Given the description of an element on the screen output the (x, y) to click on. 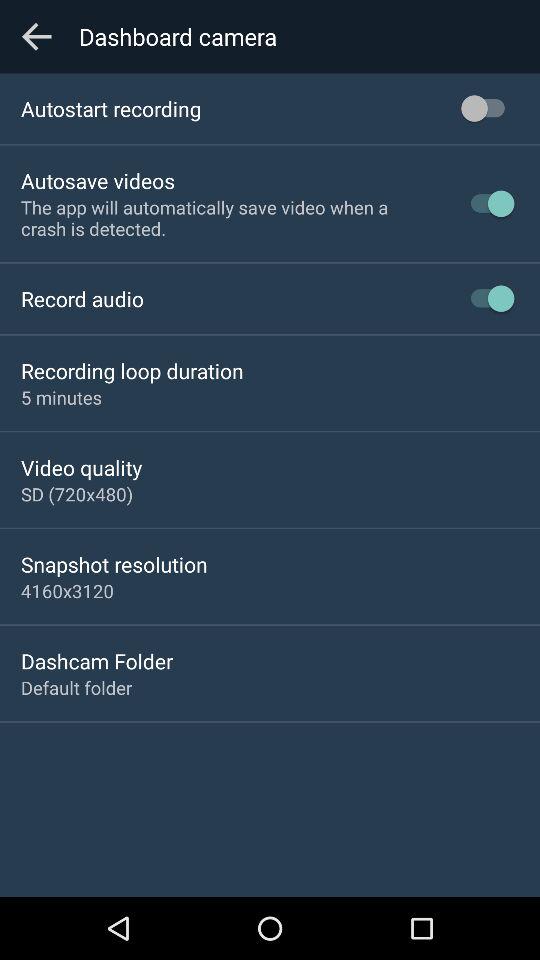
select the icon above dashcam folder icon (67, 590)
